Given the description of an element on the screen output the (x, y) to click on. 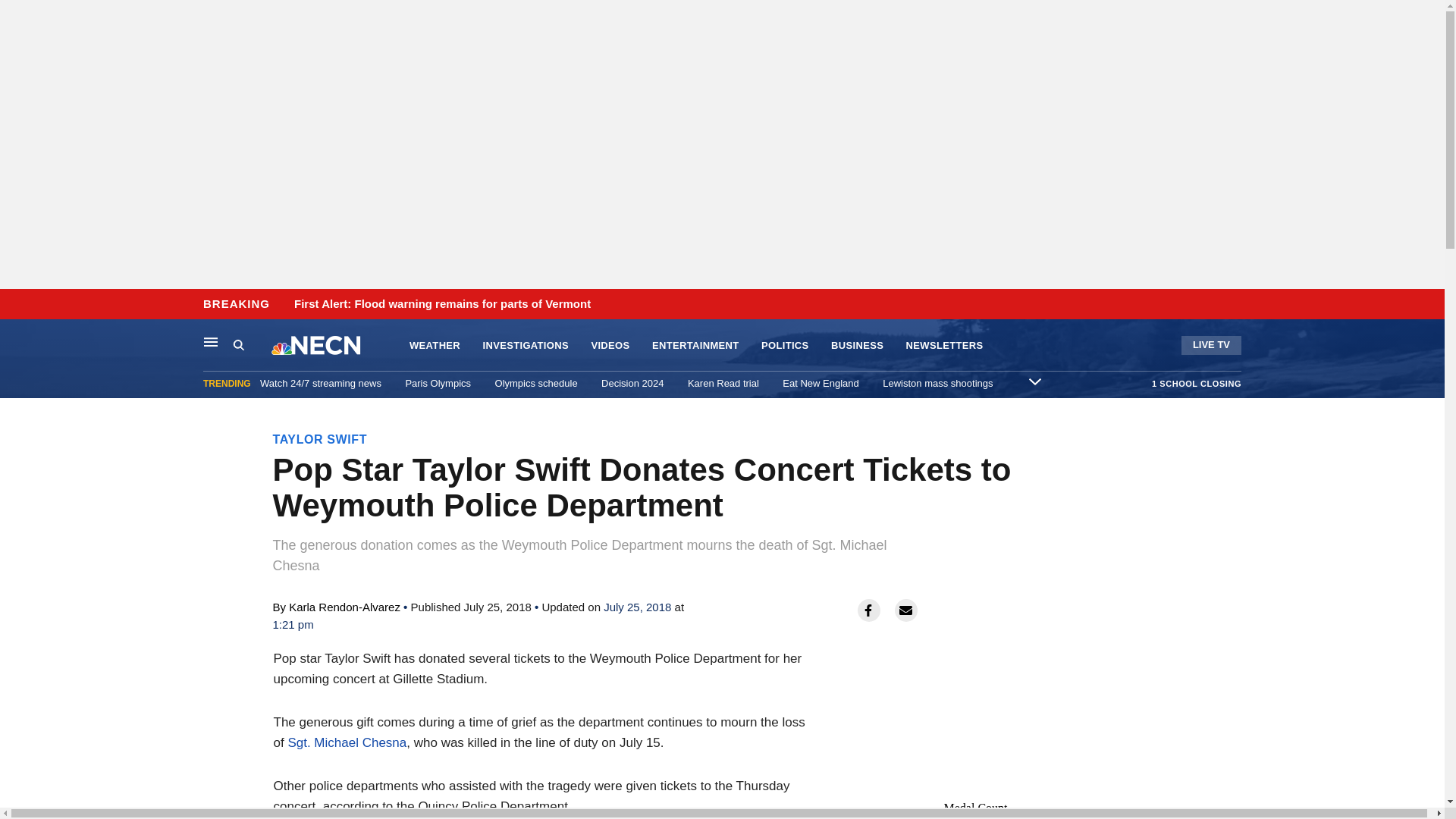
Sgt. Michael Chesna (346, 742)
ENTERTAINMENT (695, 345)
NEWSLETTERS (944, 345)
Karen Read trial (722, 383)
Decision 2024 (632, 383)
TAYLOR SWIFT (320, 439)
Complete Olympic coverage (1013, 816)
Skip to content (16, 304)
POLITICS (785, 345)
Main Navigation (210, 341)
INVESTIGATIONS (526, 345)
VIDEOS (609, 345)
LIVE TV (1210, 343)
Lewiston mass shootings (937, 383)
First Alert: Flood warning remains for parts of Vermont (442, 304)
